Given the description of an element on the screen output the (x, y) to click on. 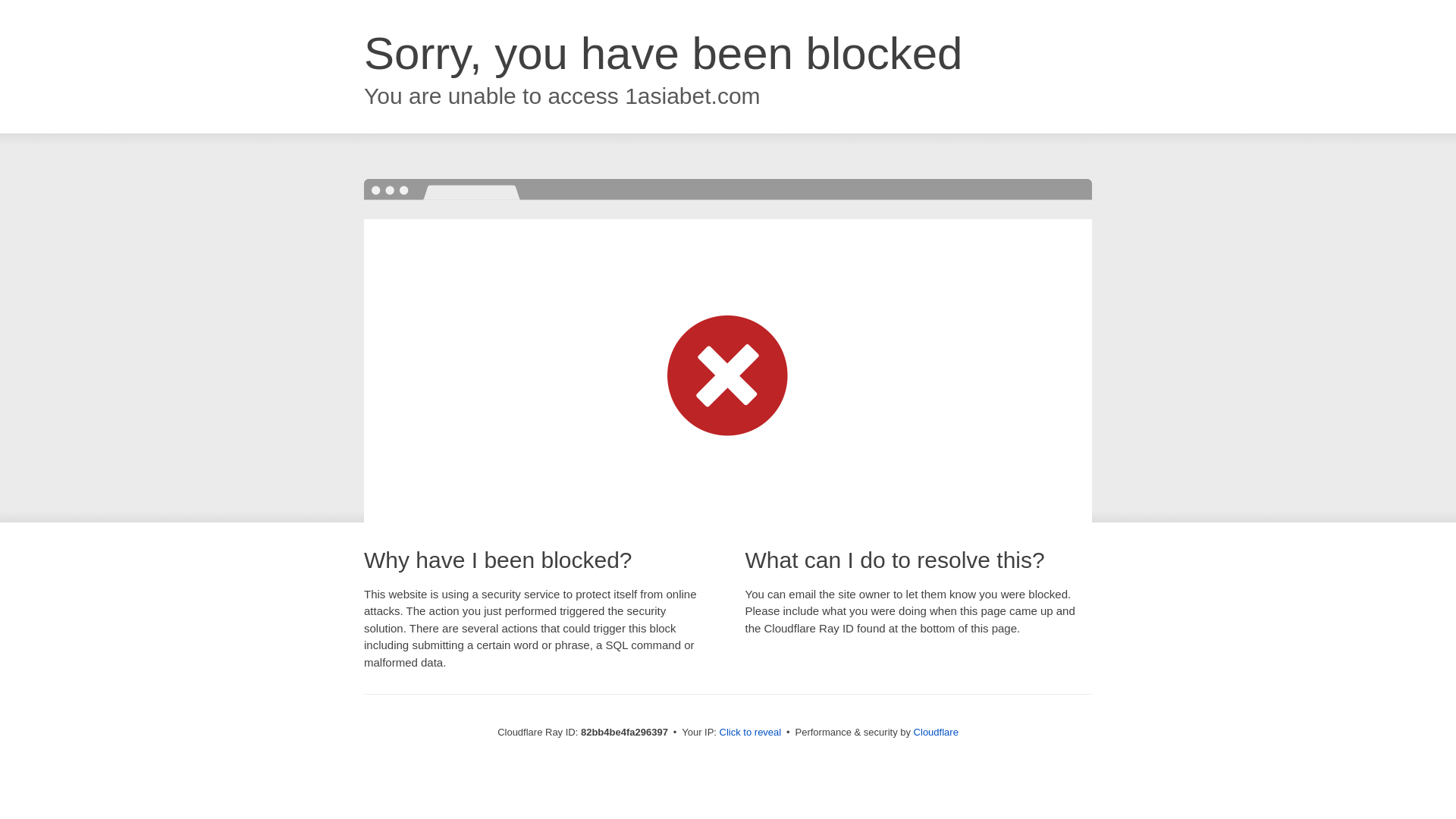
Click to reveal Element type: text (750, 732)
Cloudflare Element type: text (935, 731)
